Given the description of an element on the screen output the (x, y) to click on. 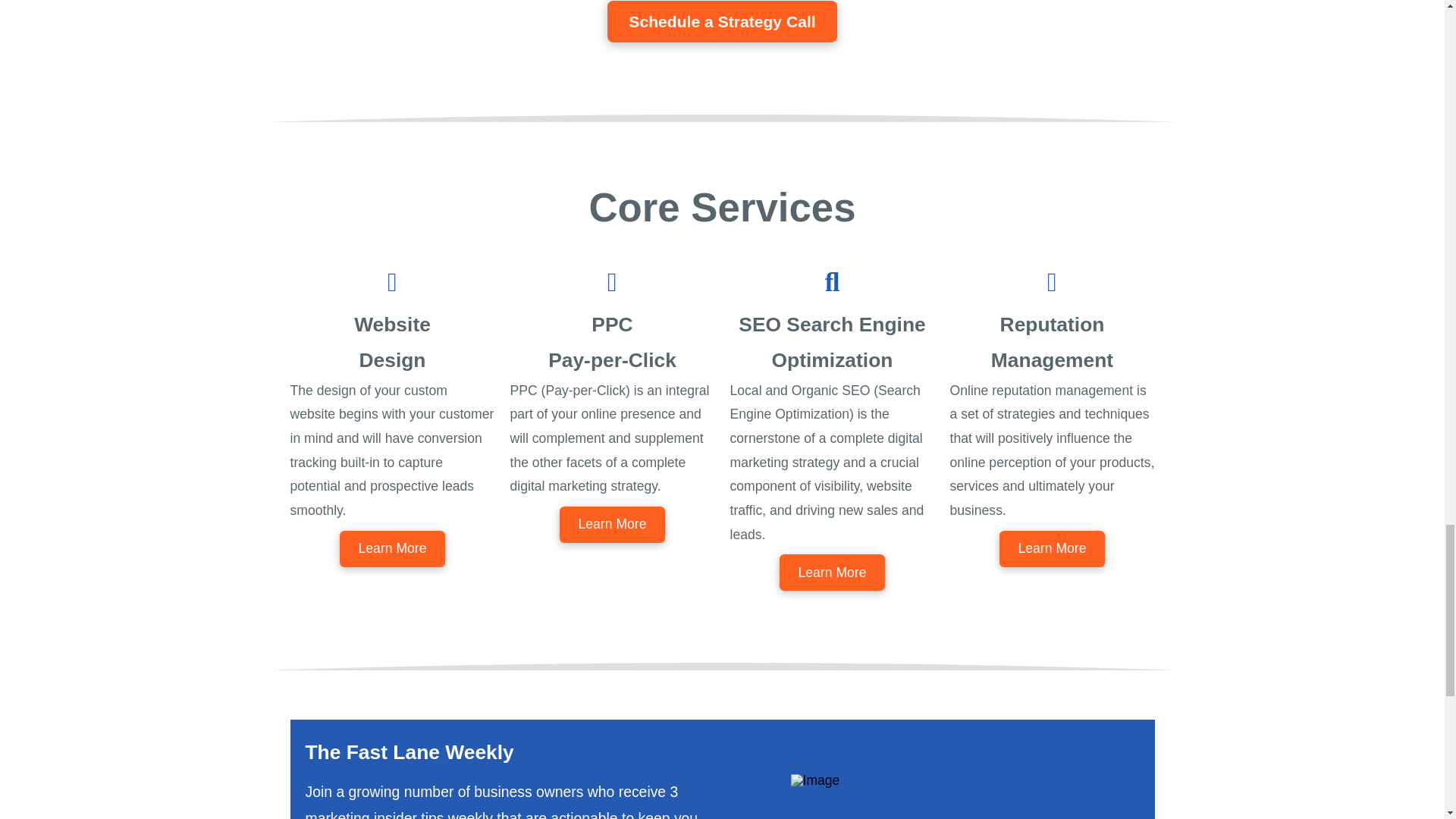
Learn More (1051, 548)
Schedule a Strategy Call (721, 21)
Learn More (831, 572)
Learn More (612, 524)
Learn More (392, 548)
